Given the description of an element on the screen output the (x, y) to click on. 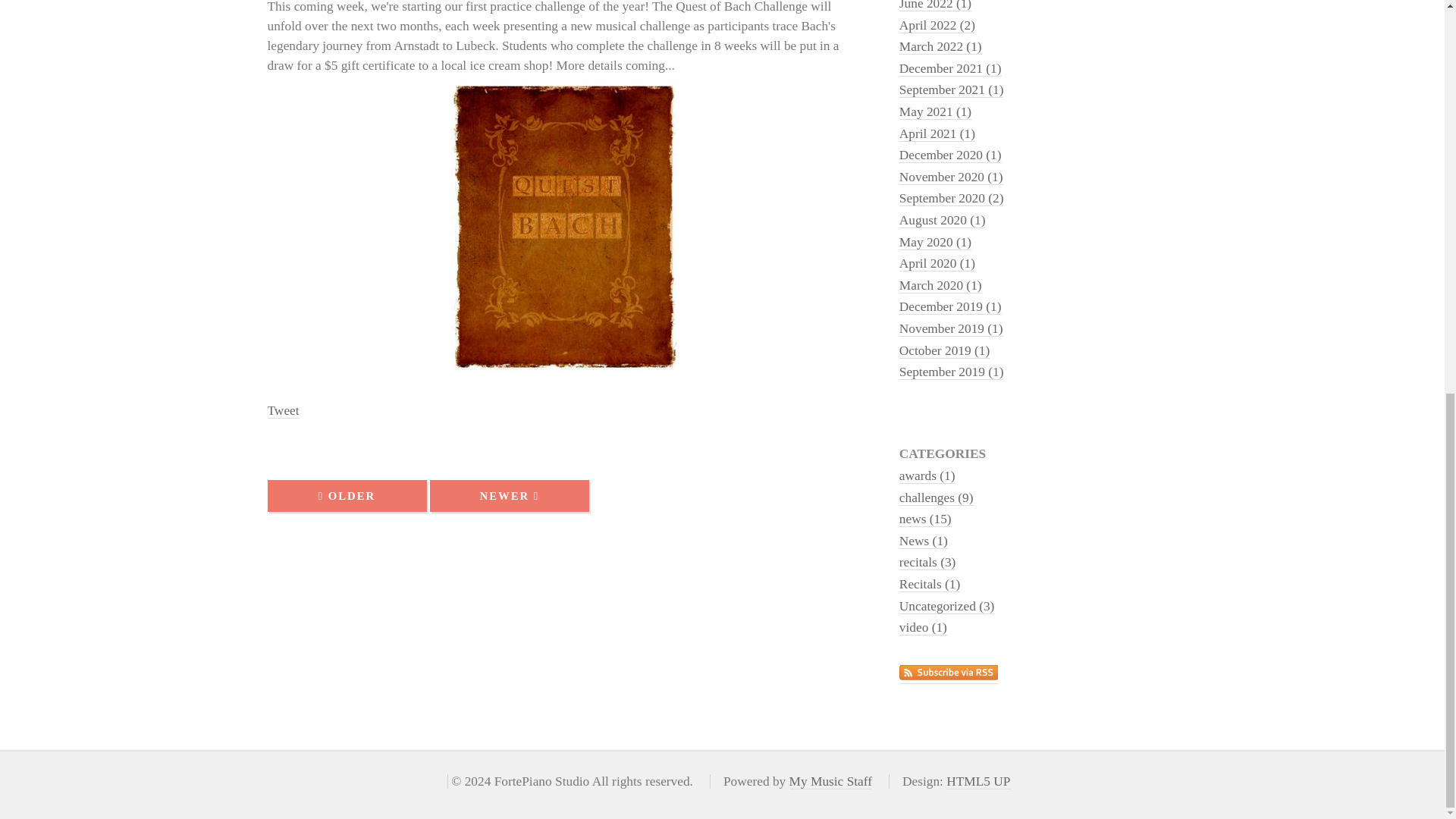
NEWER (509, 495)
OLDER (346, 495)
Tweet (282, 410)
